Given the description of an element on the screen output the (x, y) to click on. 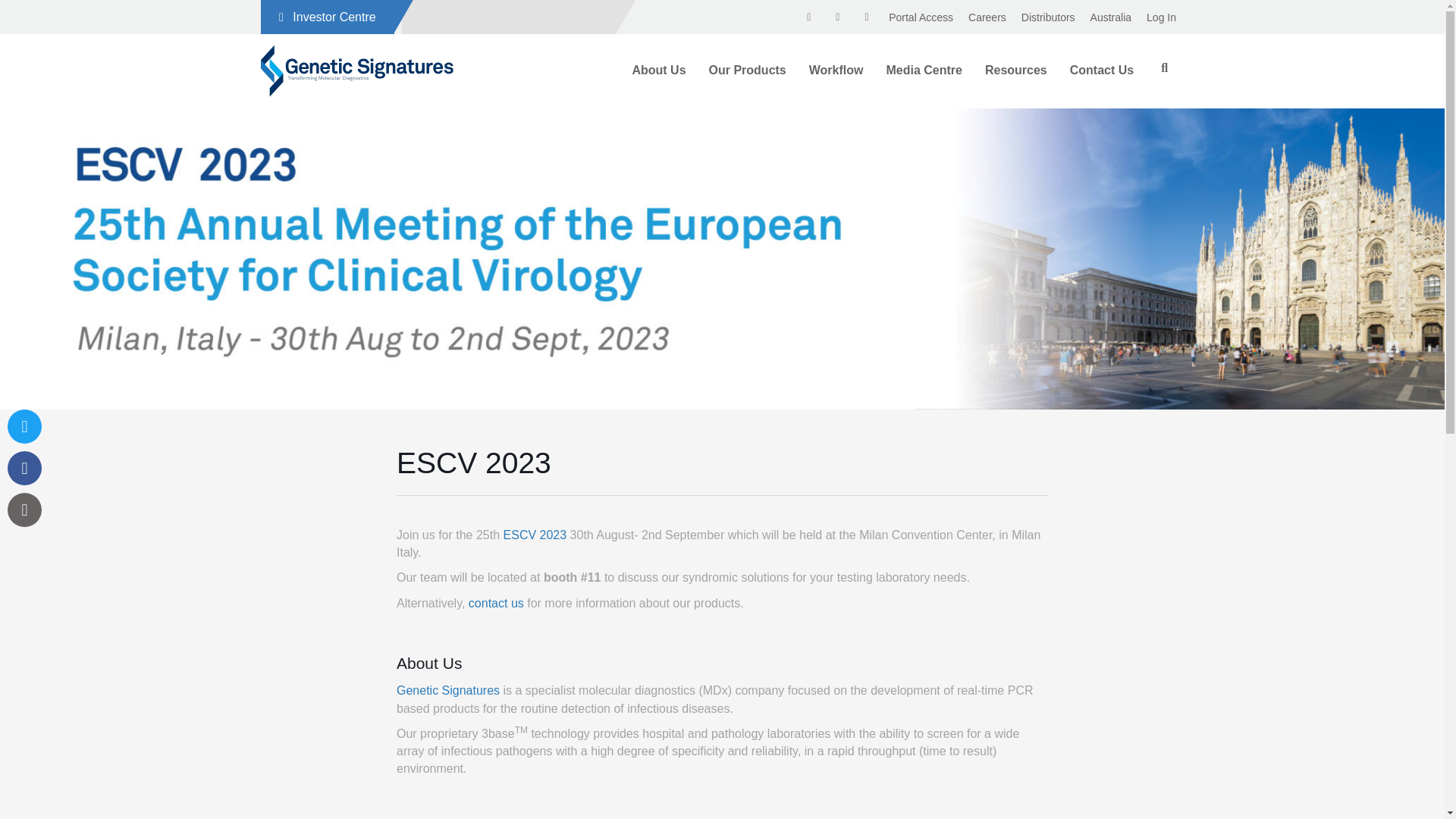
Careers (986, 17)
LinkedIn (809, 16)
Log In (1160, 17)
Investor Centre (327, 16)
LinkedIn (897, 16)
Genetic Signatures Share Pricing (808, 17)
Search (506, 16)
Australia (1164, 68)
Distributors (1110, 17)
